Given the description of an element on the screen output the (x, y) to click on. 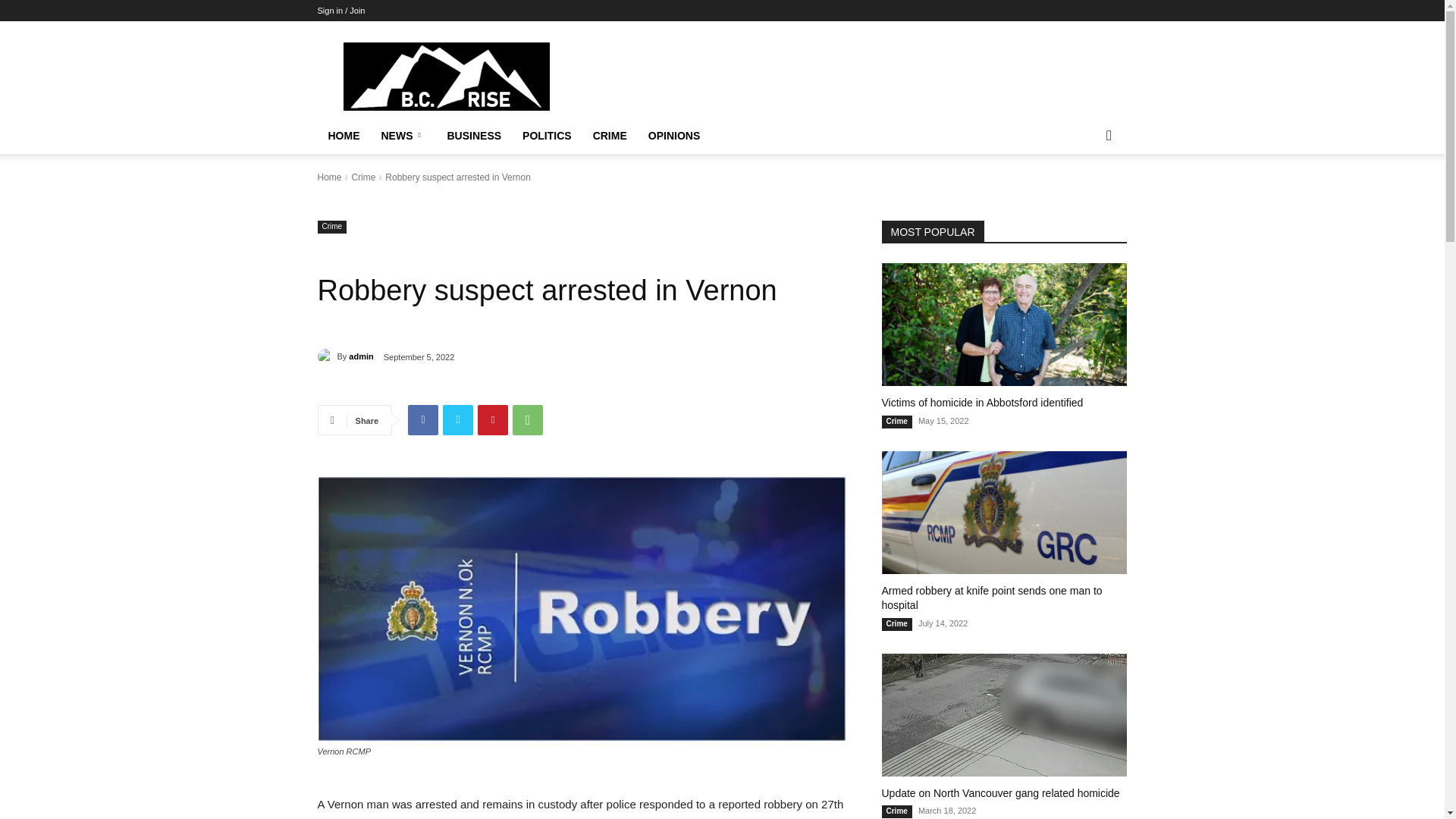
admin (326, 355)
Twitter (457, 419)
Crime (362, 176)
Crime (331, 226)
View all posts in Crime (362, 176)
OPINIONS (673, 135)
Facebook (422, 419)
WhatsApp (527, 419)
BUSINESS (474, 135)
CRIME (609, 135)
Search (1085, 196)
HOME (343, 135)
NEWS (402, 135)
Pinterest (492, 419)
POLITICS (547, 135)
